Given the description of an element on the screen output the (x, y) to click on. 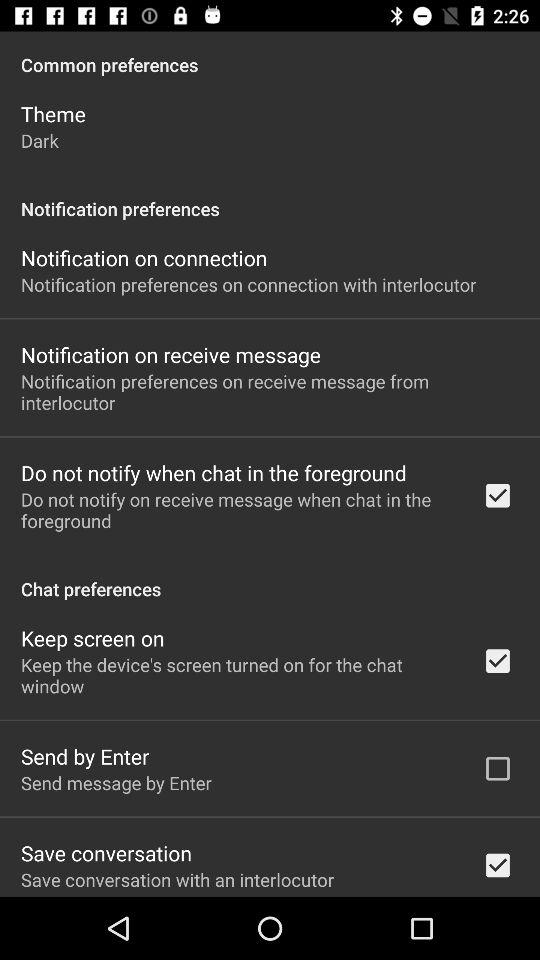
choose chat preferences item (270, 578)
